Given the description of an element on the screen output the (x, y) to click on. 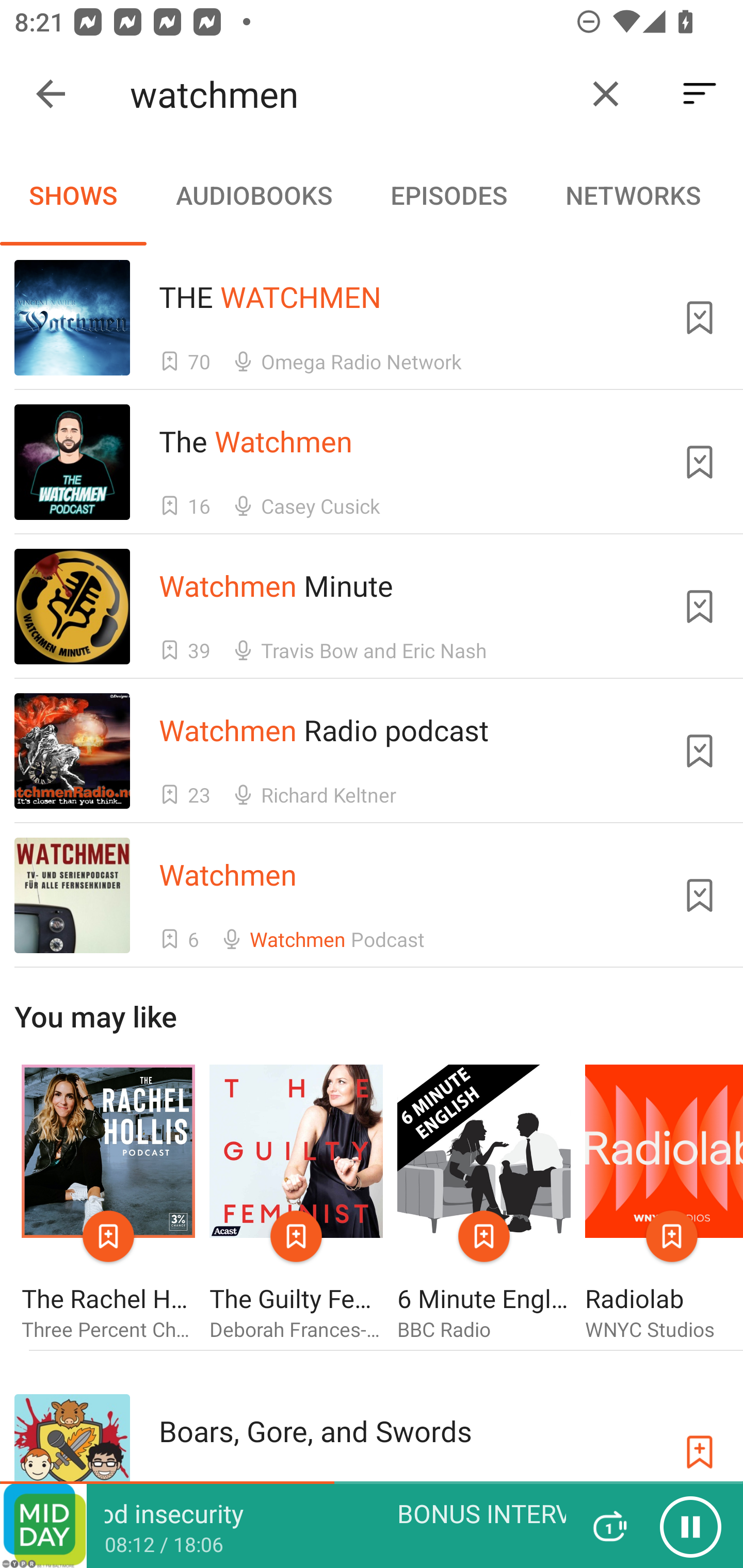
Collapse (50, 93)
Clear query (605, 93)
Sort By (699, 93)
watchmen (349, 94)
SHOWS (73, 195)
AUDIOBOOKS (253, 195)
EPISODES (448, 195)
NETWORKS (632, 195)
Unsubscribe (699, 317)
Unsubscribe (699, 462)
Unsubscribe (699, 606)
Unsubscribe (699, 751)
Unsubscribe (699, 895)
The Rachel Hollis Podcast Three Percent Chance (107, 1203)
